Given the description of an element on the screen output the (x, y) to click on. 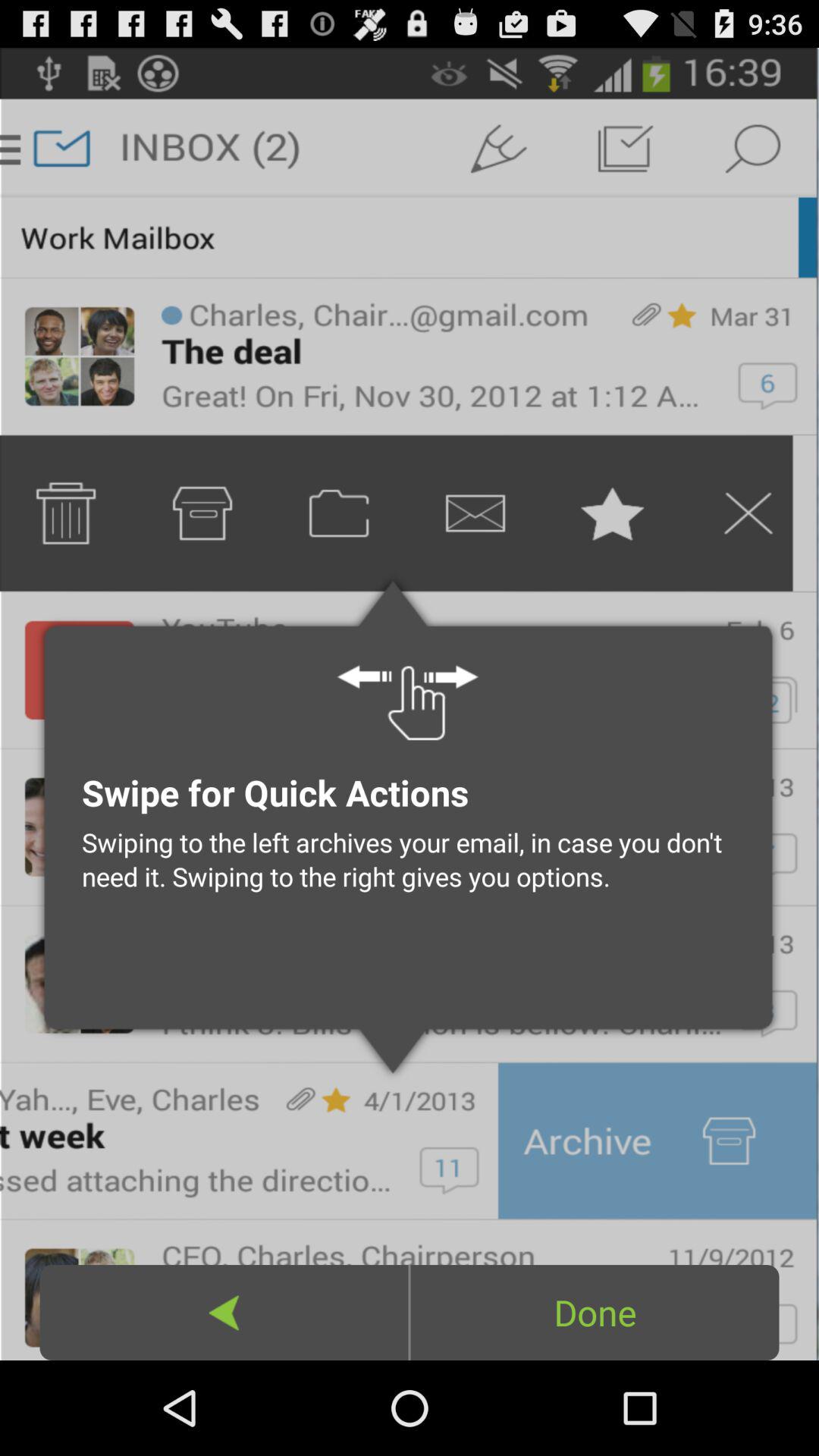
click done icon (594, 1312)
